Given the description of an element on the screen output the (x, y) to click on. 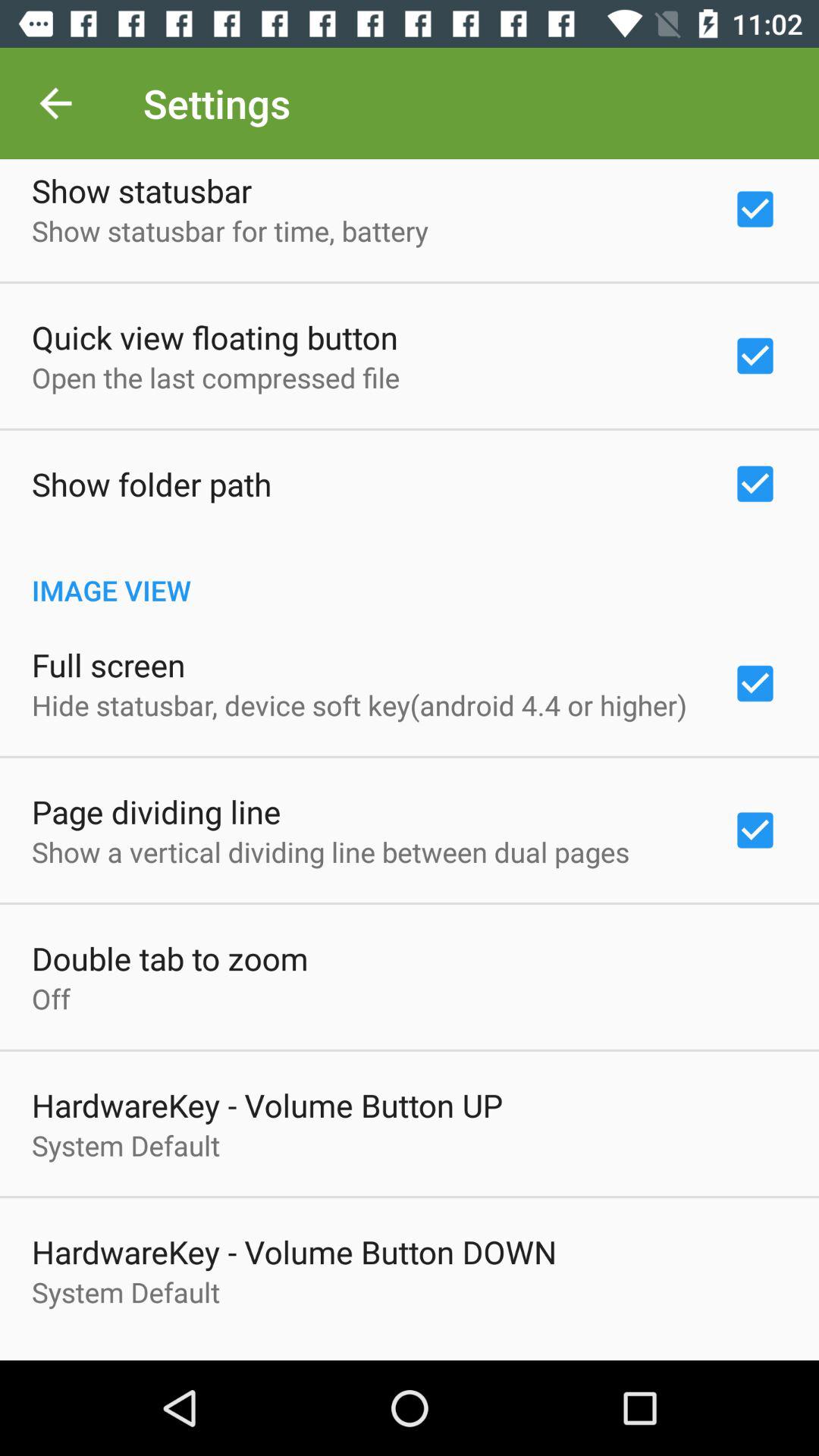
press item below the show a vertical item (169, 957)
